Given the description of an element on the screen output the (x, y) to click on. 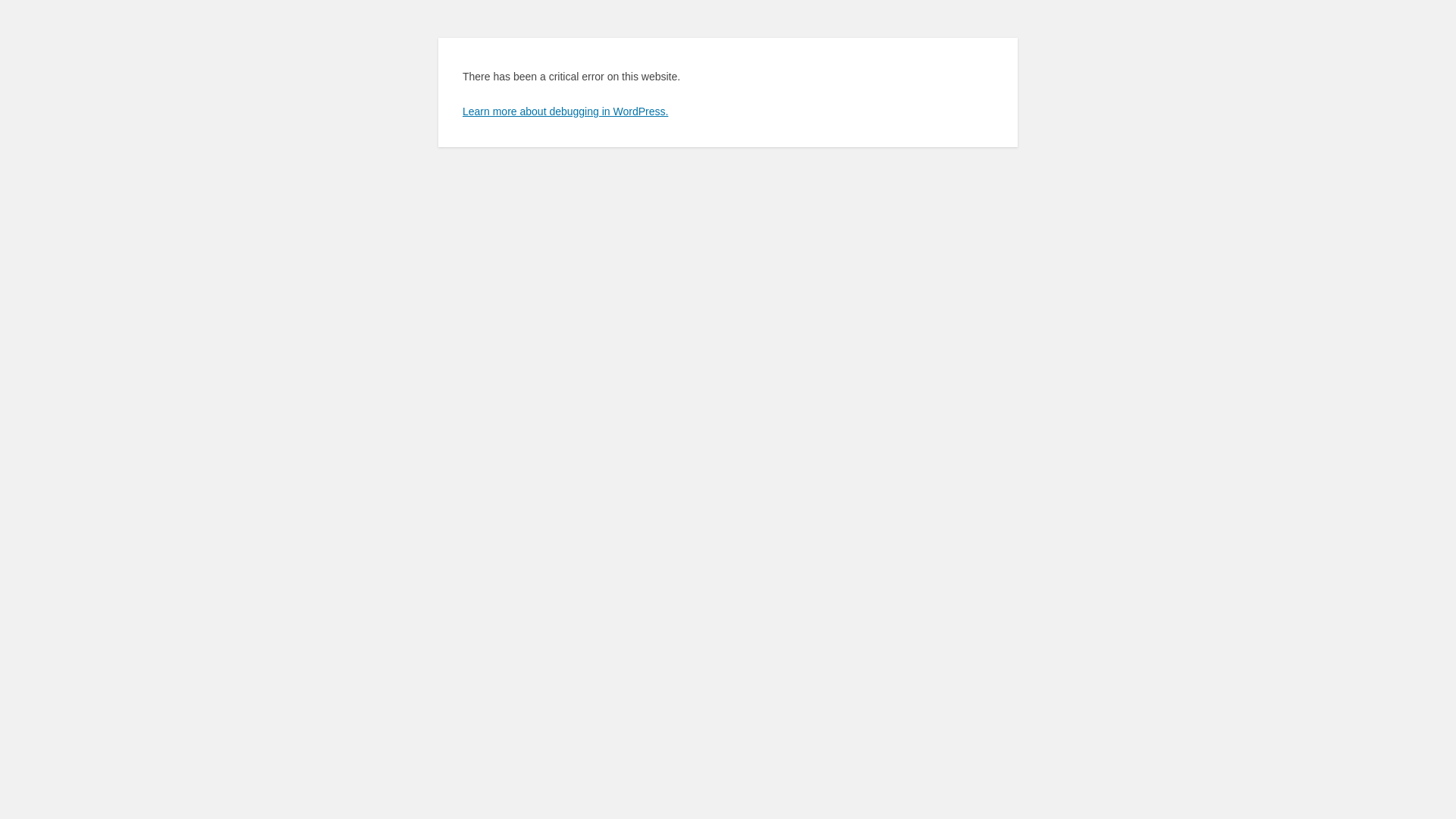
Learn more about debugging in WordPress. Element type: text (565, 111)
